Given the description of an element on the screen output the (x, y) to click on. 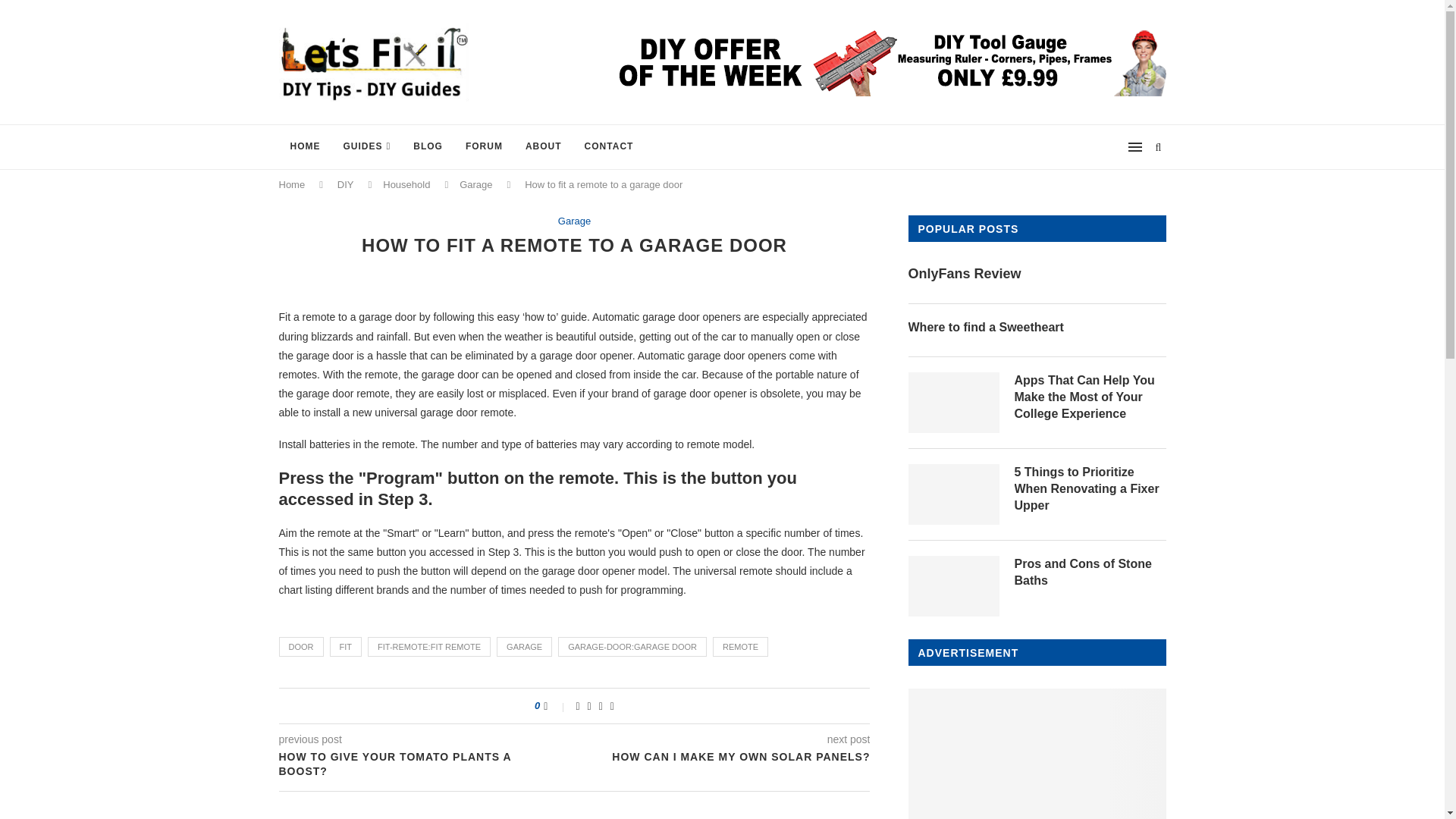
Where to find a Sweetheart (1037, 327)
Like (555, 705)
OnlyFans Review (1037, 273)
